Given the description of an element on the screen output the (x, y) to click on. 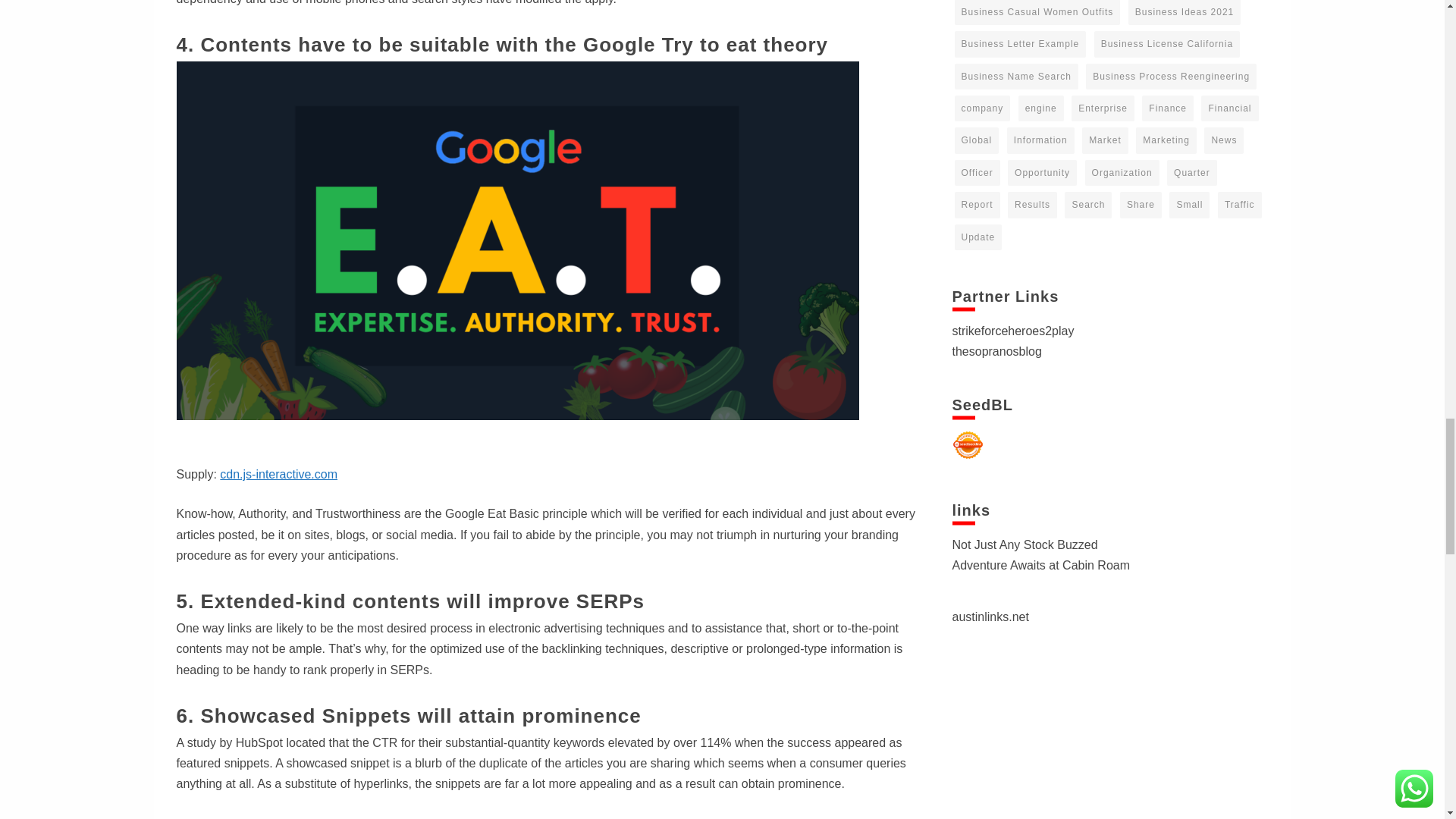
cdn.js-interactive.com (278, 473)
